Given the description of an element on the screen output the (x, y) to click on. 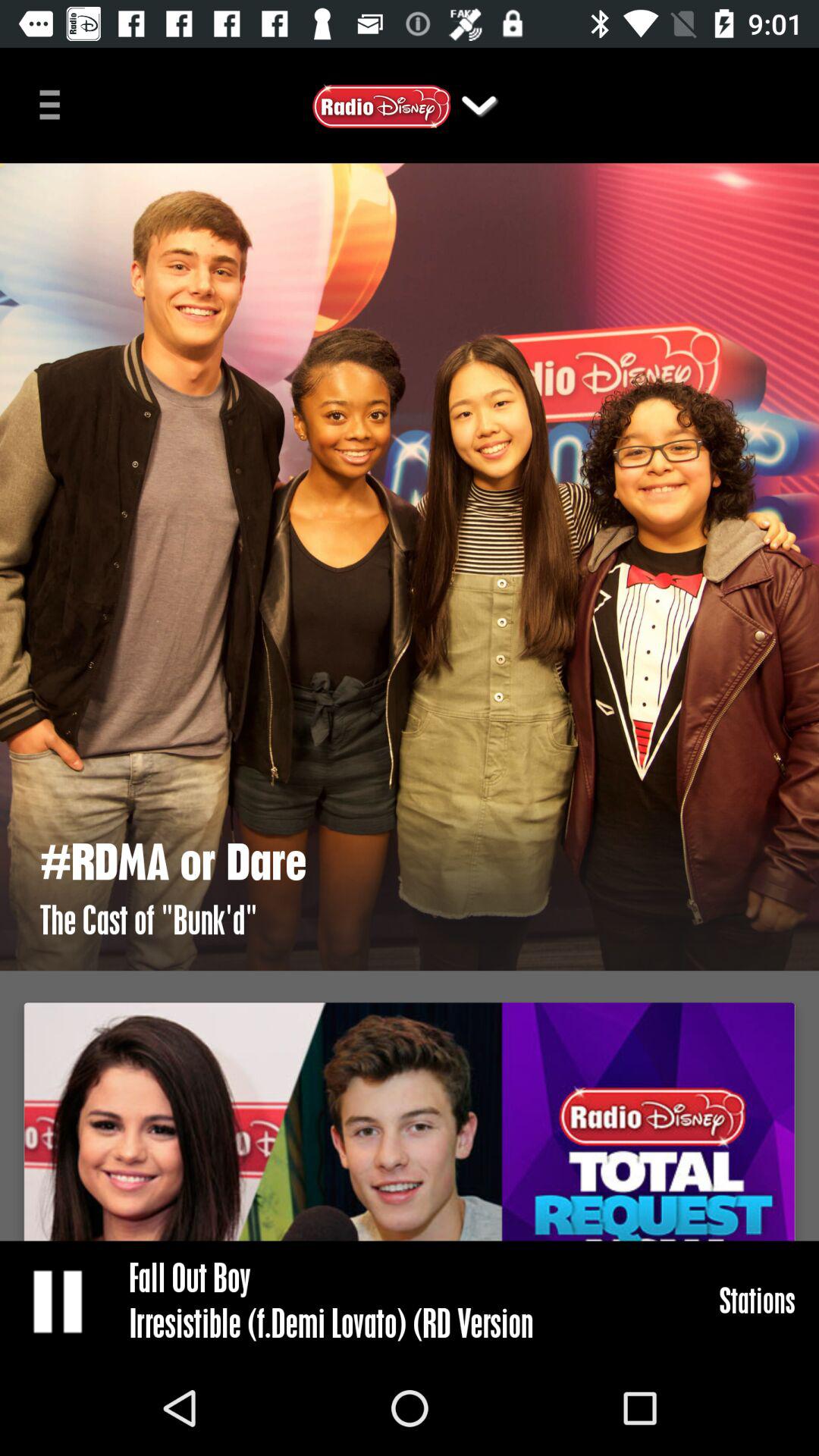
pause the audio (59, 1300)
